Given the description of an element on the screen output the (x, y) to click on. 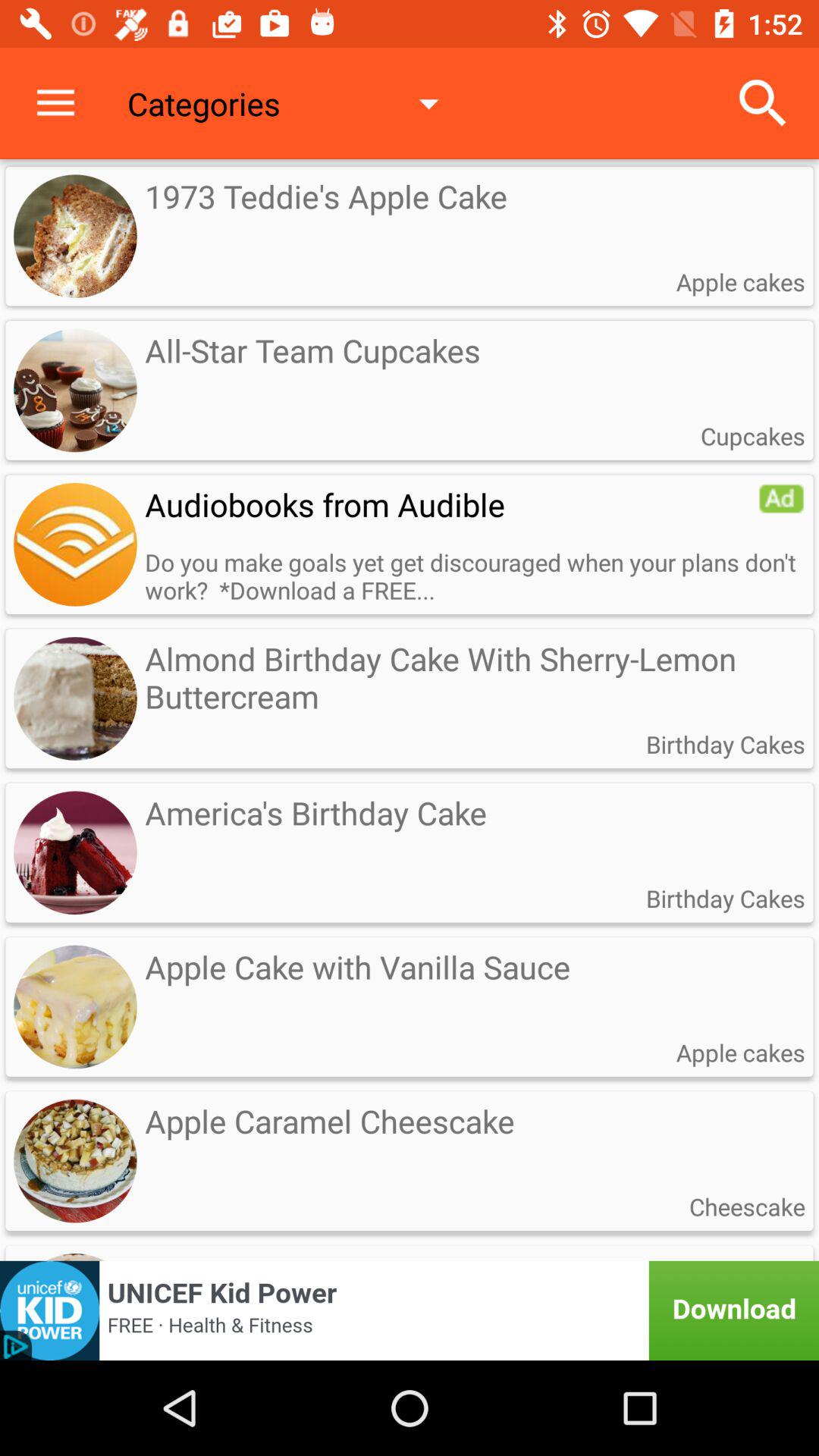
turn on item above do you make (451, 504)
